Given the description of an element on the screen output the (x, y) to click on. 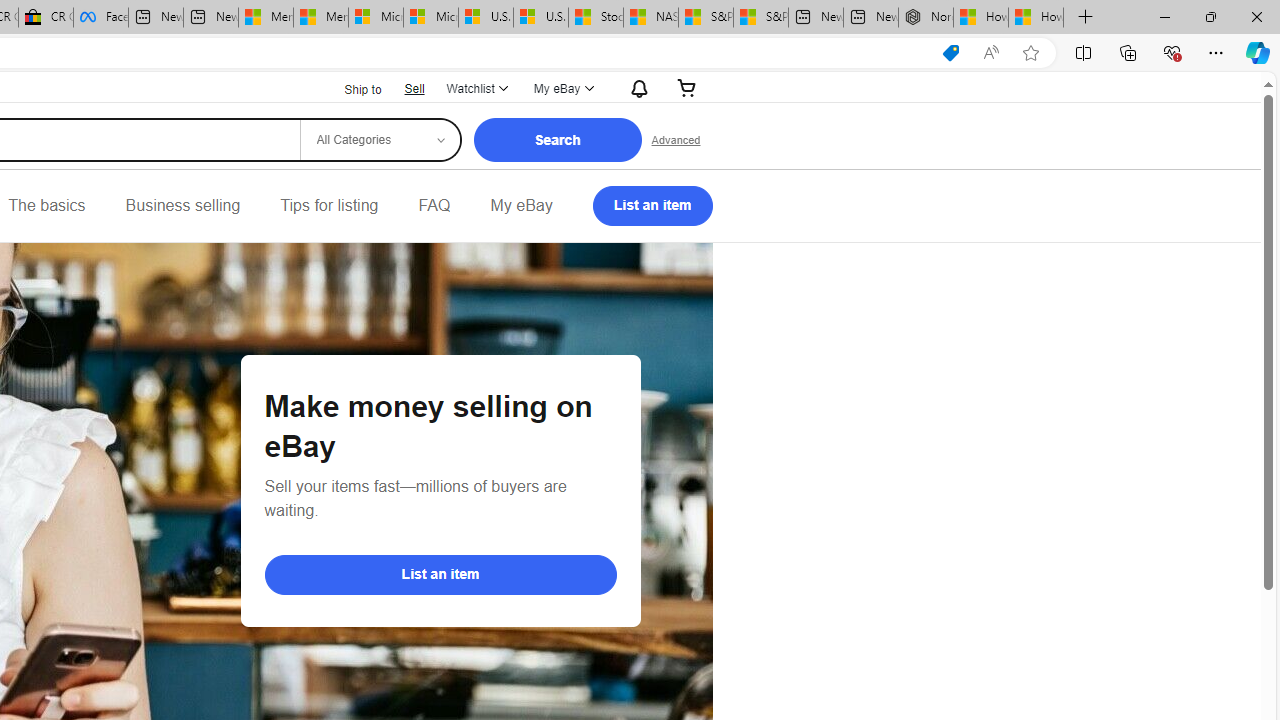
Ship to (349, 89)
Tips for listing (329, 205)
List an item (651, 205)
The basics (46, 205)
My eBay (521, 205)
FAQ (434, 205)
Business selling (182, 205)
Watchlist (476, 88)
The basics (46, 205)
Ship to (349, 88)
